Given the description of an element on the screen output the (x, y) to click on. 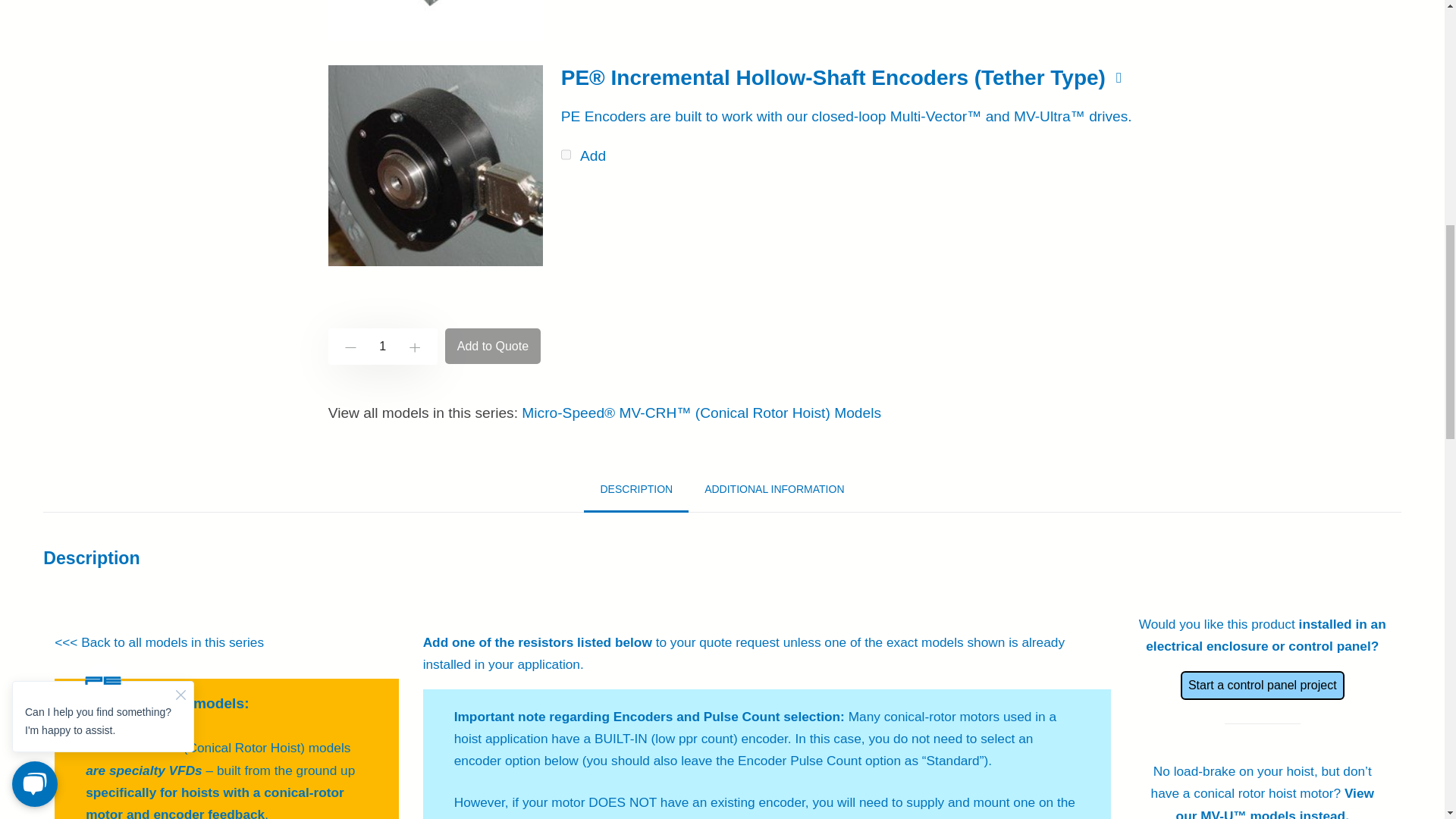
1 (383, 346)
PE Regen size R3.L.2 (436, 20)
prod-other-encoder1-2-1.jpeg (436, 165)
